Given the description of an element on the screen output the (x, y) to click on. 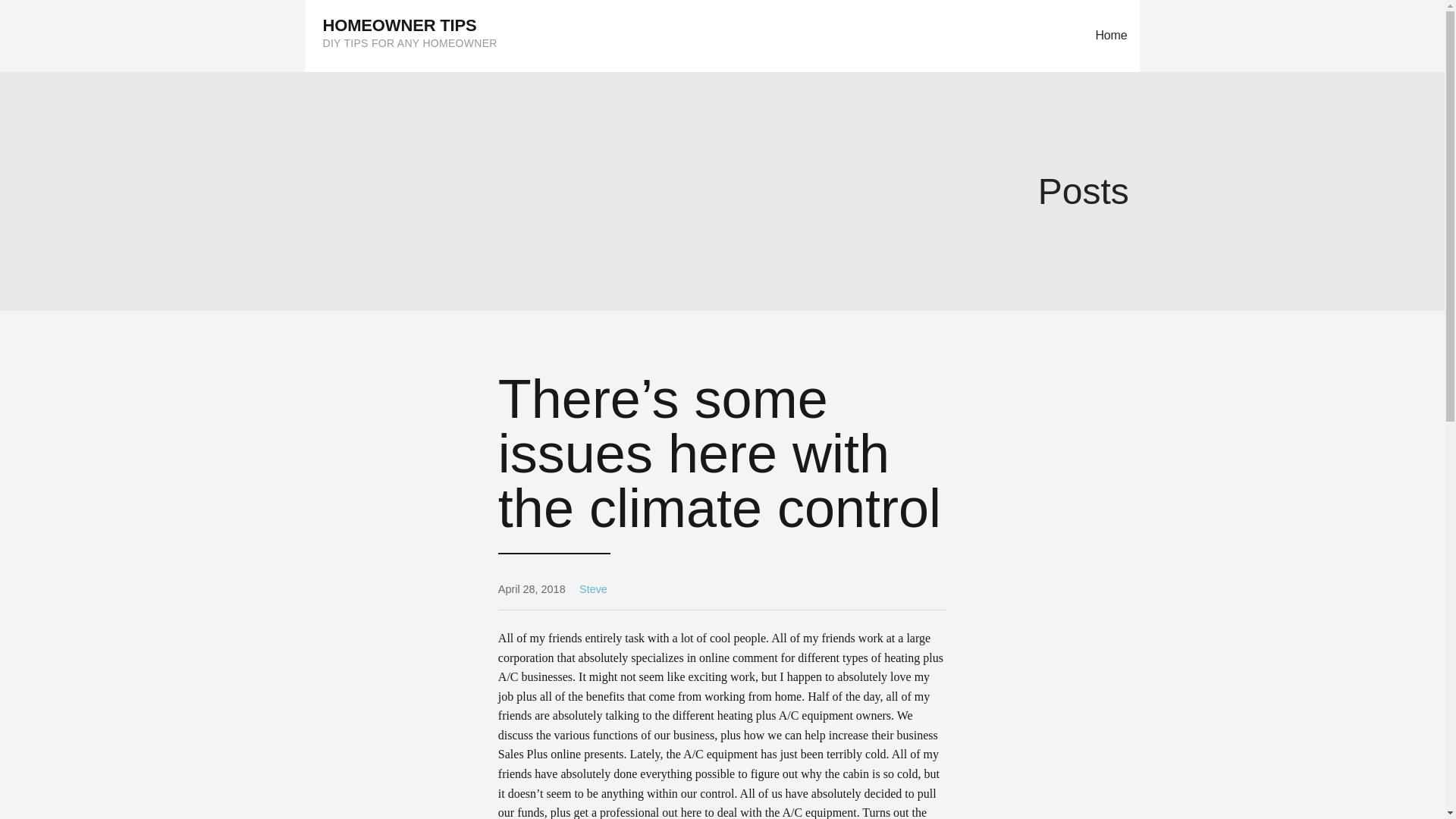
Posts by Steve (593, 589)
Steve (593, 589)
HOMEOWNER TIPS (400, 25)
